Given the description of an element on the screen output the (x, y) to click on. 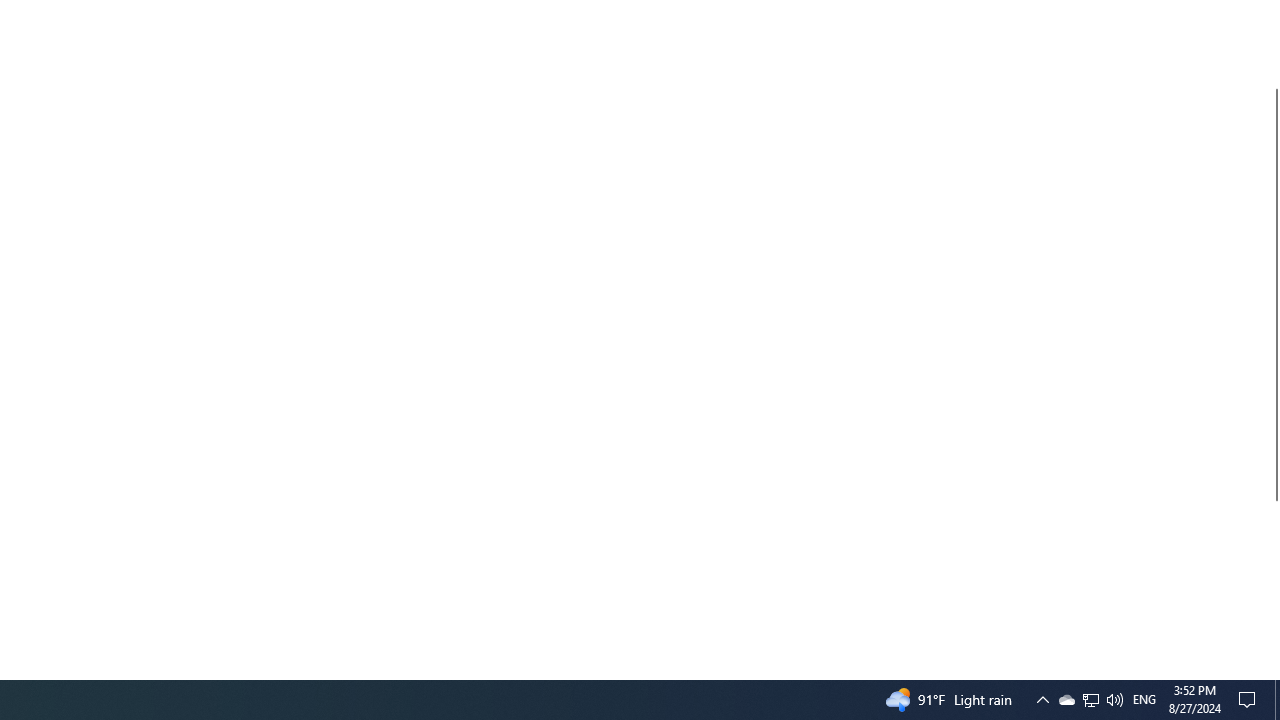
Notification Chevron (1042, 699)
Vertical Large Increase (1272, 582)
User Promoted Notification Area (1090, 699)
Action Center, No new notifications (1250, 699)
Tray Input Indicator - English (United States) (1144, 699)
Vertical Small Increase (1066, 699)
Show desktop (1091, 699)
Q2790: 100% (1272, 671)
